Given the description of an element on the screen output the (x, y) to click on. 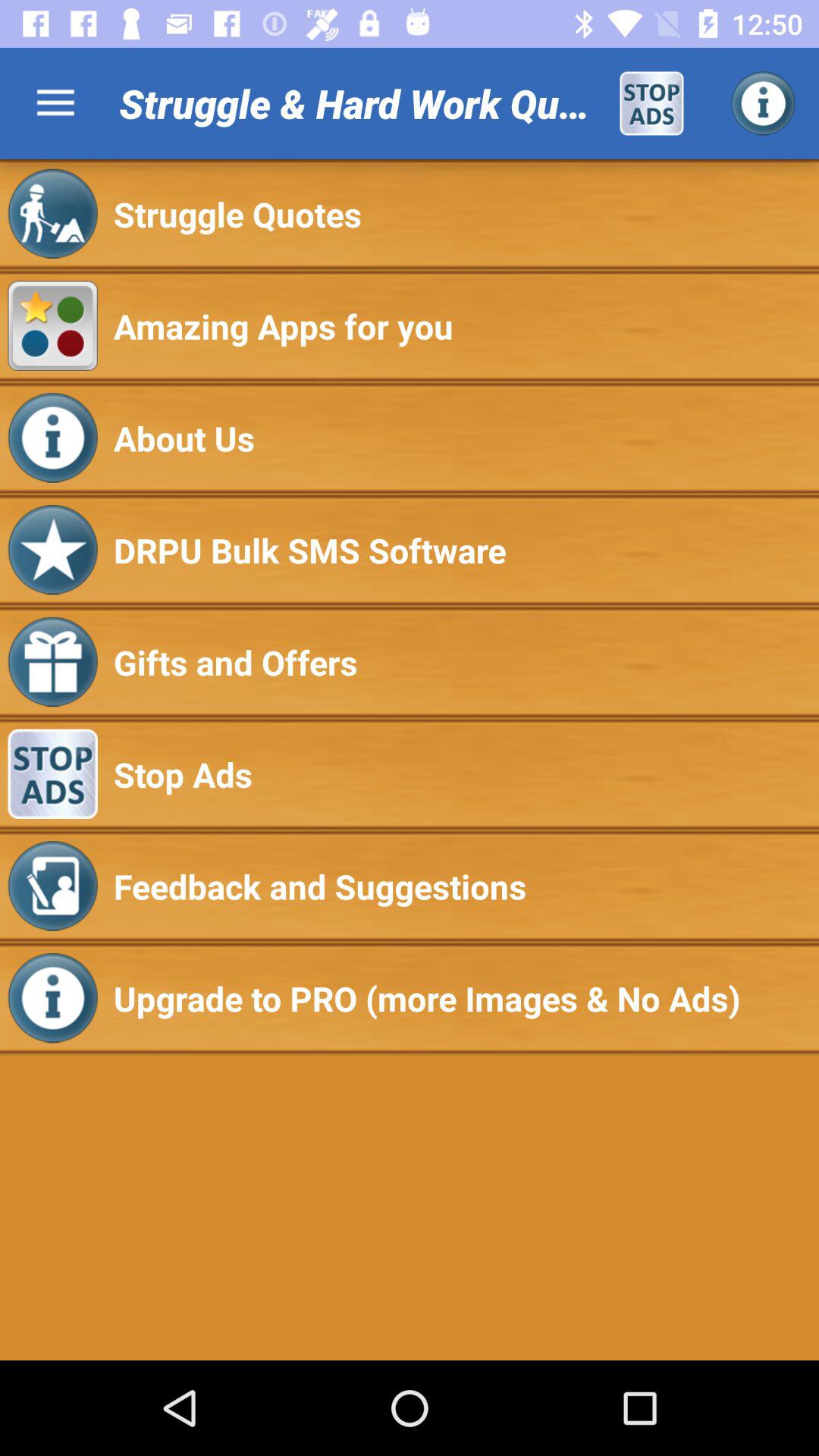
click on the last icon which is beside upgrade (52, 998)
